Given the description of an element on the screen output the (x, y) to click on. 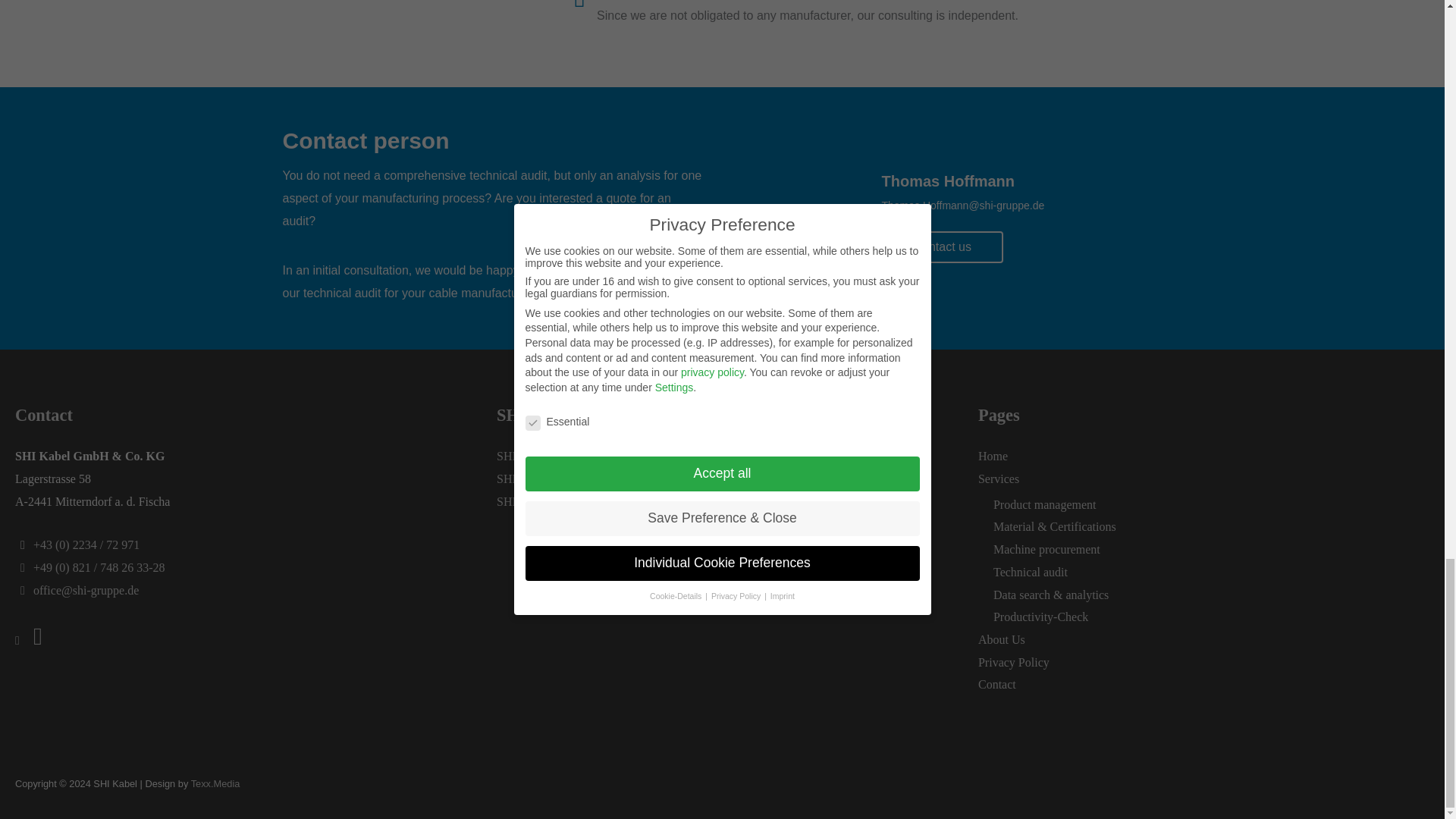
SHI-Kabel (522, 501)
Contact (997, 684)
Productivity-Check (1039, 616)
Services (998, 478)
Contact us (941, 246)
Thomas-Hoffmann-SHI (809, 220)
About Us (1001, 639)
Technical audit (1029, 571)
Texx.Media (215, 783)
SHI-Software (530, 455)
